Given the description of an element on the screen output the (x, y) to click on. 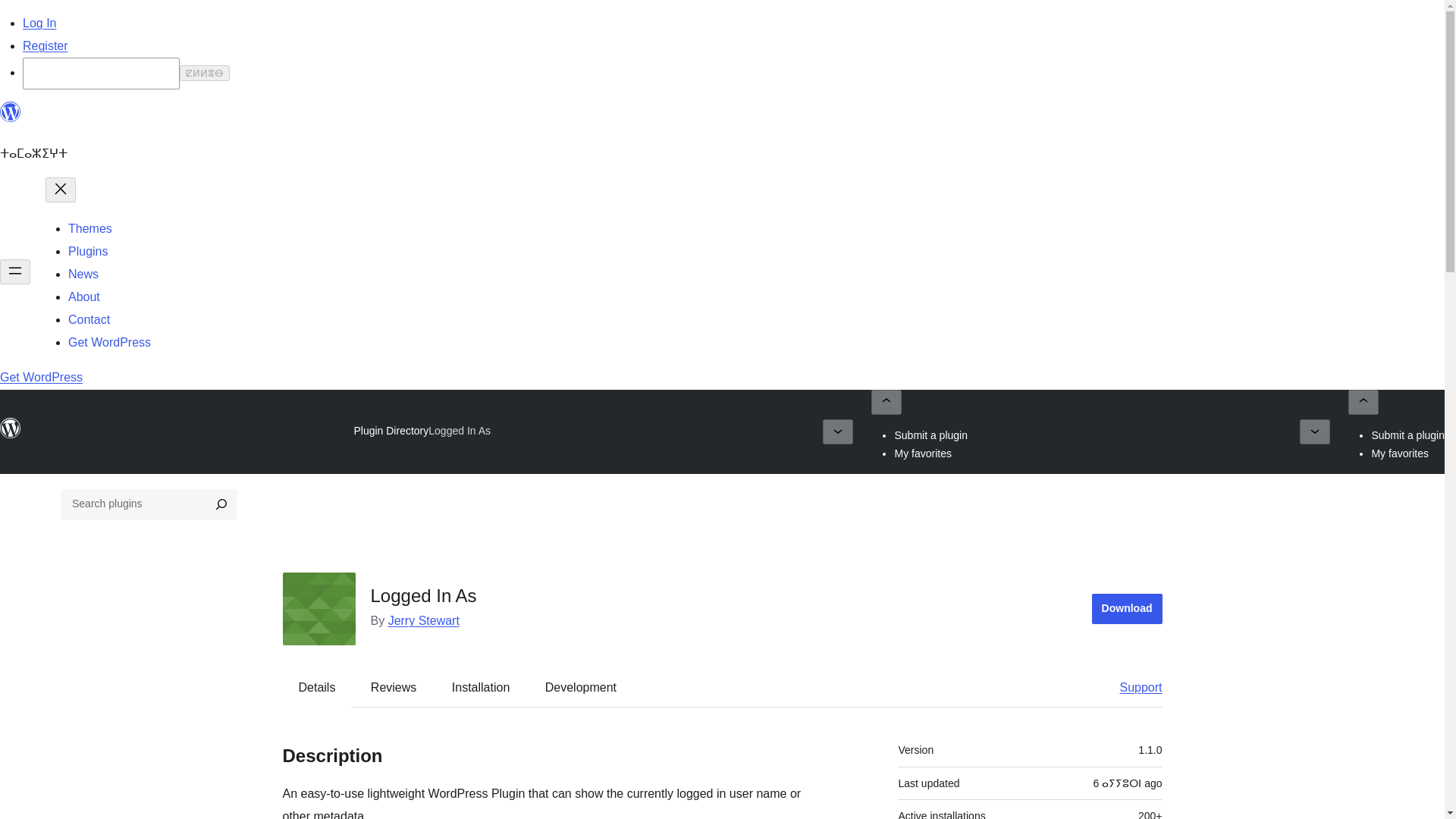
WordPress.org (10, 427)
Details (316, 687)
WordPress.org (10, 118)
Submit a plugin (930, 435)
News (83, 273)
Themes (90, 228)
Plugins (87, 250)
Get WordPress (109, 341)
About (84, 296)
My favorites (921, 453)
Download (1126, 608)
My favorites (1399, 453)
Development (580, 687)
Log In (39, 22)
WordPress.org (10, 435)
